Given the description of an element on the screen output the (x, y) to click on. 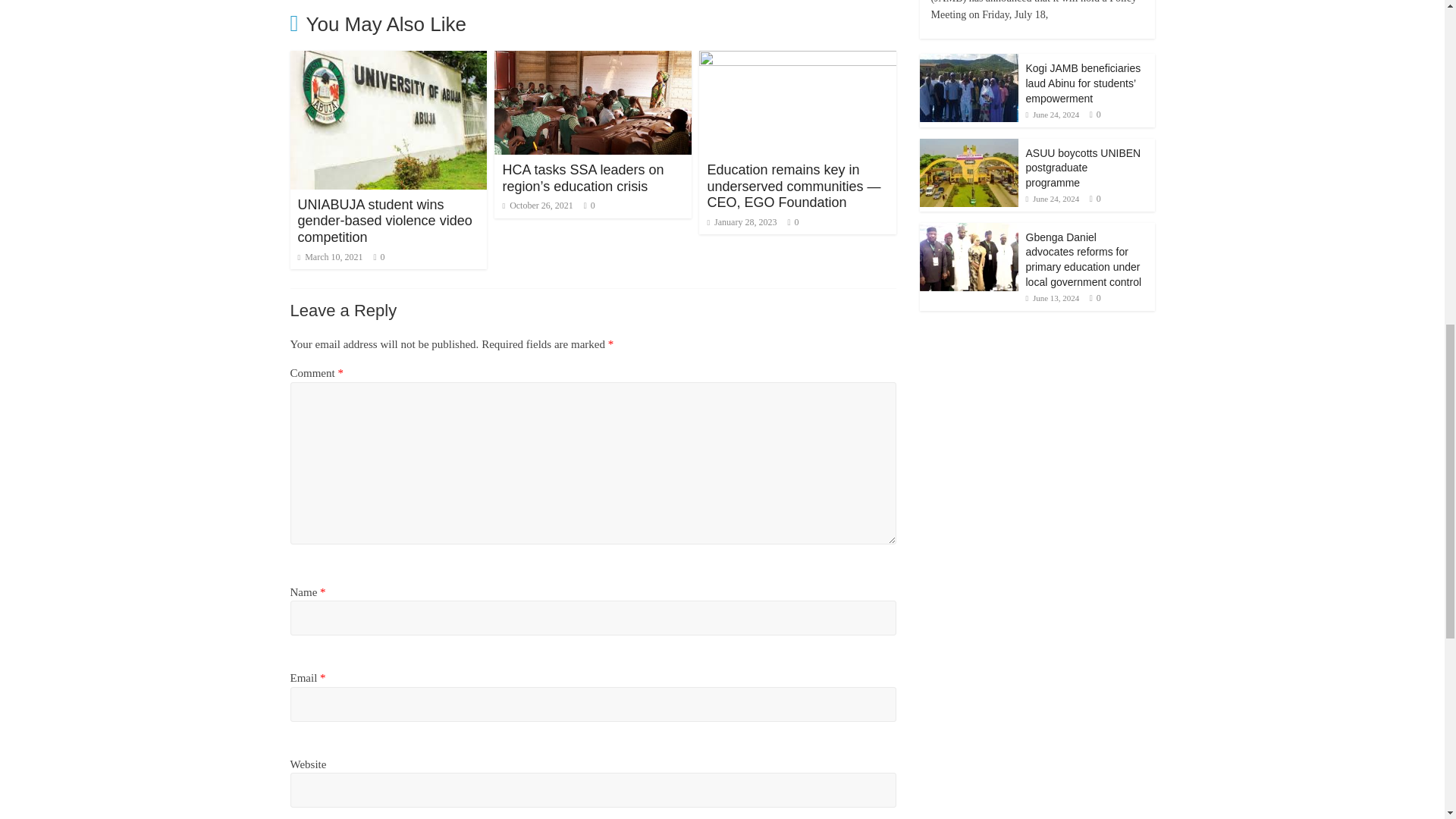
October 26, 2021 (537, 204)
March 10, 2021 (329, 256)
10:13 am (329, 256)
